Given the description of an element on the screen output the (x, y) to click on. 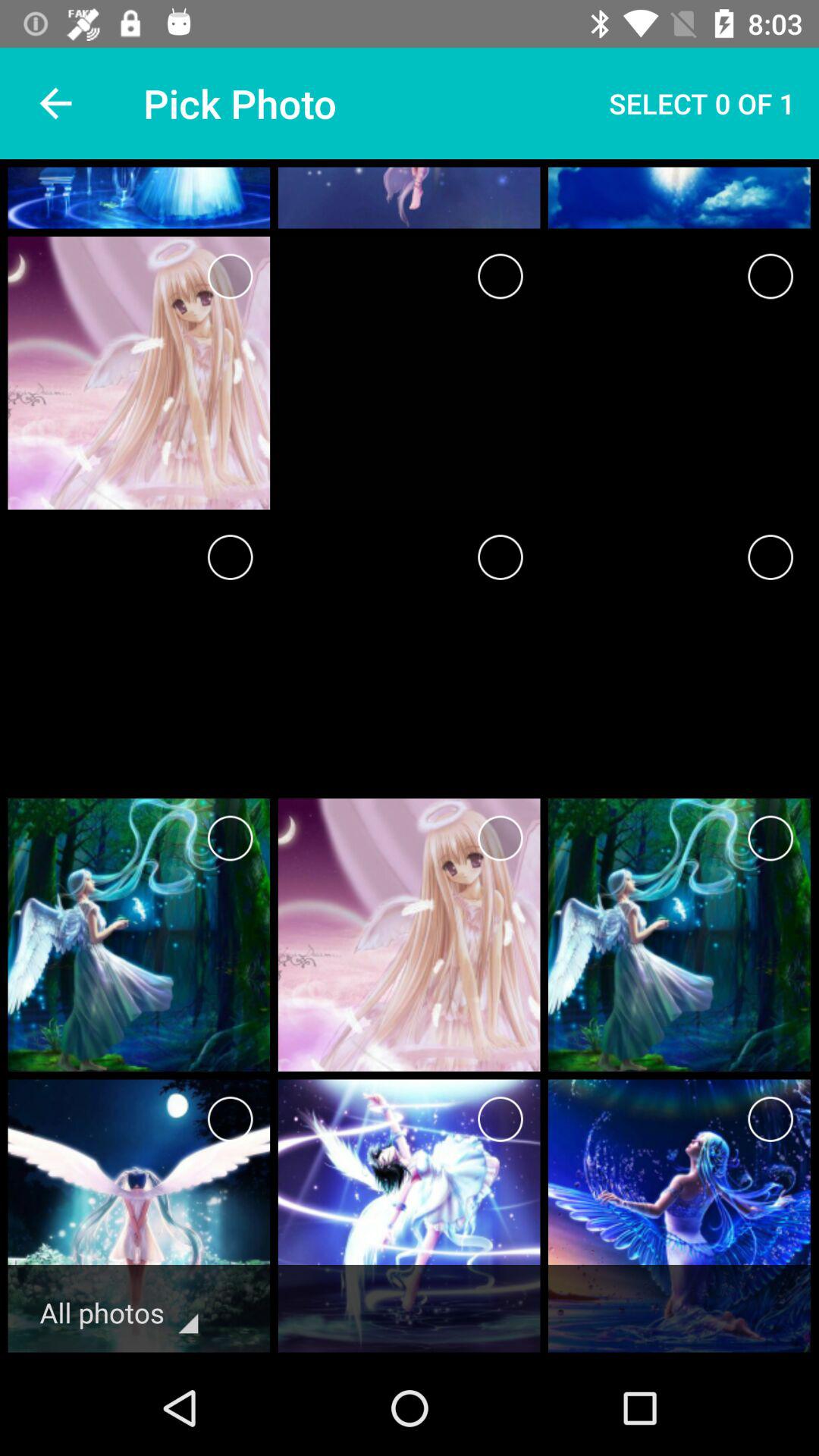
selection button (770, 838)
